Given the description of an element on the screen output the (x, y) to click on. 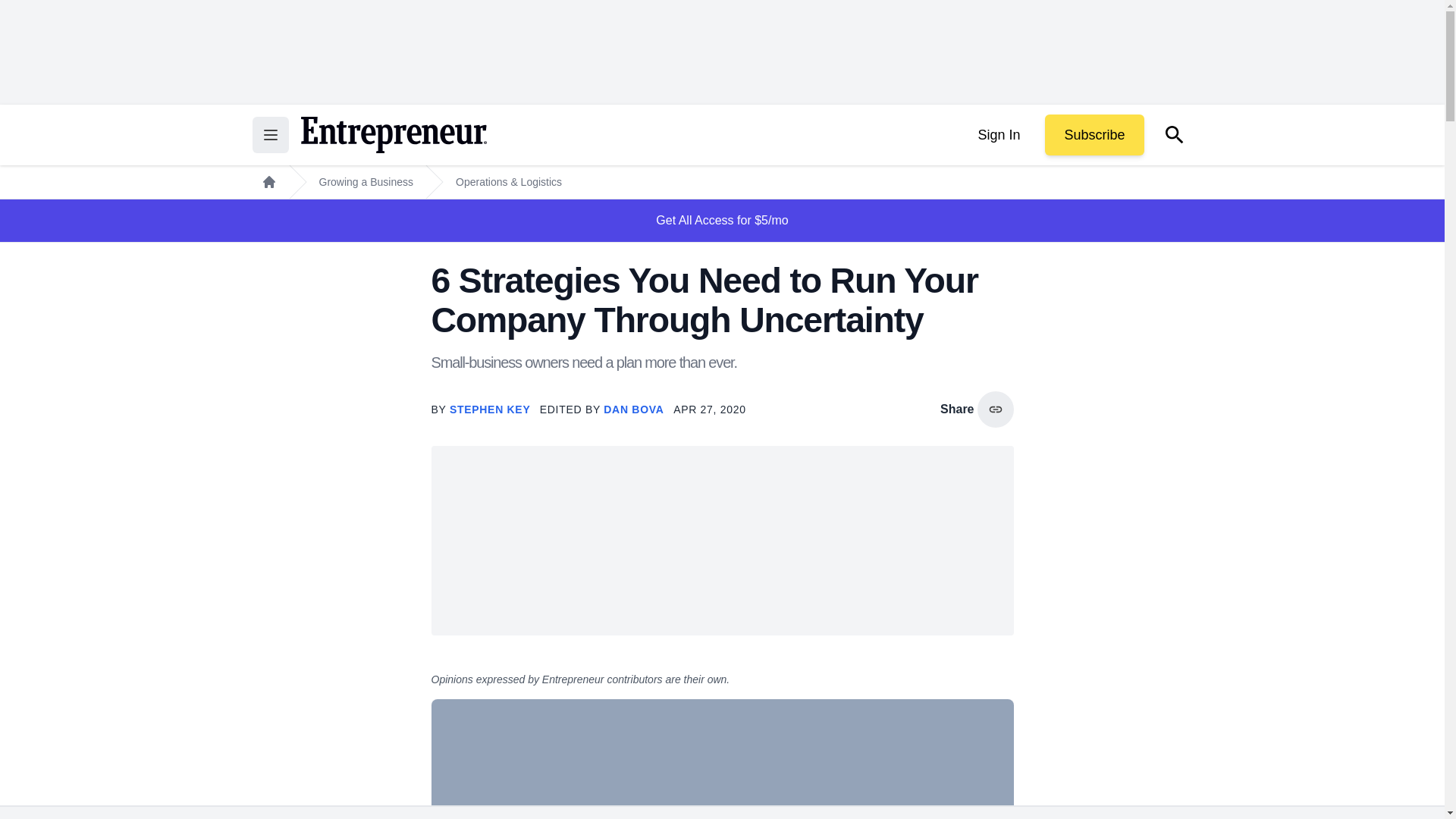
Subscribe (1093, 134)
Return to the home page (392, 135)
Sign In (998, 134)
copy (994, 409)
